Given the description of an element on the screen output the (x, y) to click on. 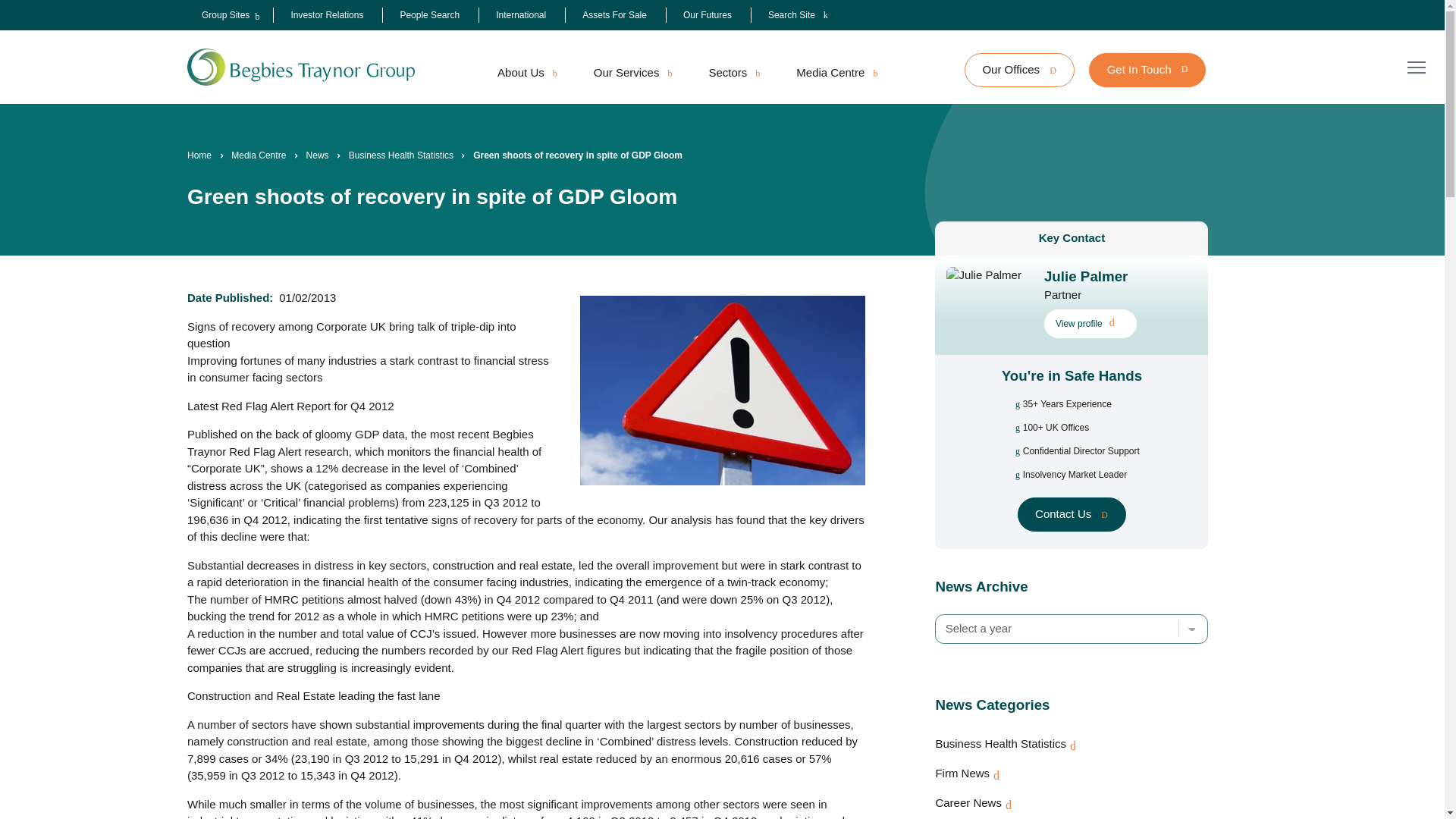
Search Site (798, 15)
Go to News (317, 155)
International (521, 15)
Go to Media Centre (258, 155)
Go to Business Health Statistics (400, 155)
Group Sites (225, 15)
Our Futures (707, 15)
Our Services (632, 73)
People Search (429, 15)
Assets For Sale (614, 15)
